Given the description of an element on the screen output the (x, y) to click on. 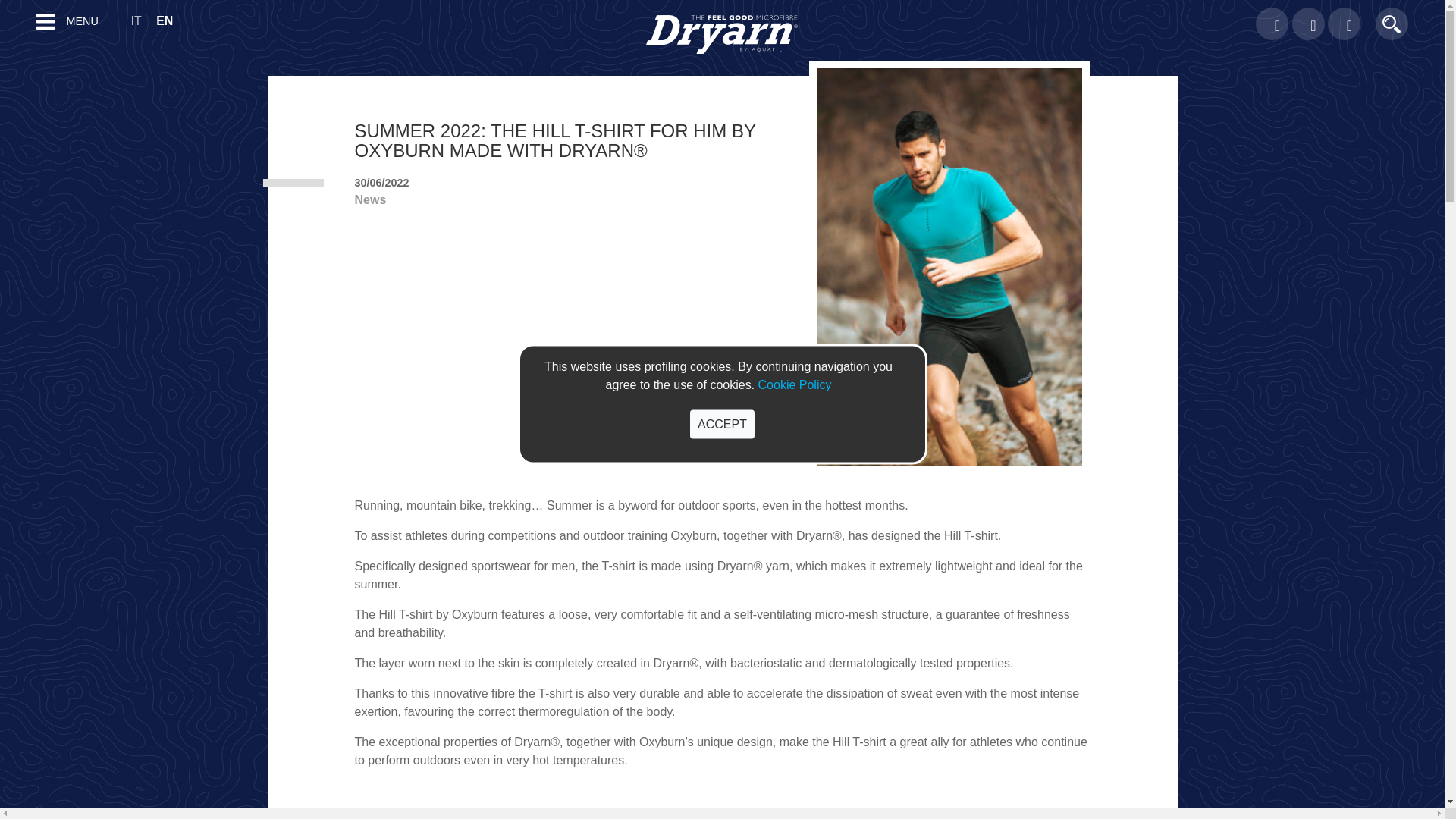
CONTACTS (25, 102)
INTERVIEWS (29, 633)
OUTDOOR (24, 237)
NATURE (18, 657)
RUNNING (21, 163)
HOME (12, 52)
WORK-OUT (26, 682)
NEWS (12, 448)
IT (141, 20)
HI-TECHNOLOGY (41, 583)
CYCLING (20, 188)
EVENTS (18, 398)
EN (169, 20)
News (369, 199)
SAILING (17, 262)
